Given the description of an element on the screen output the (x, y) to click on. 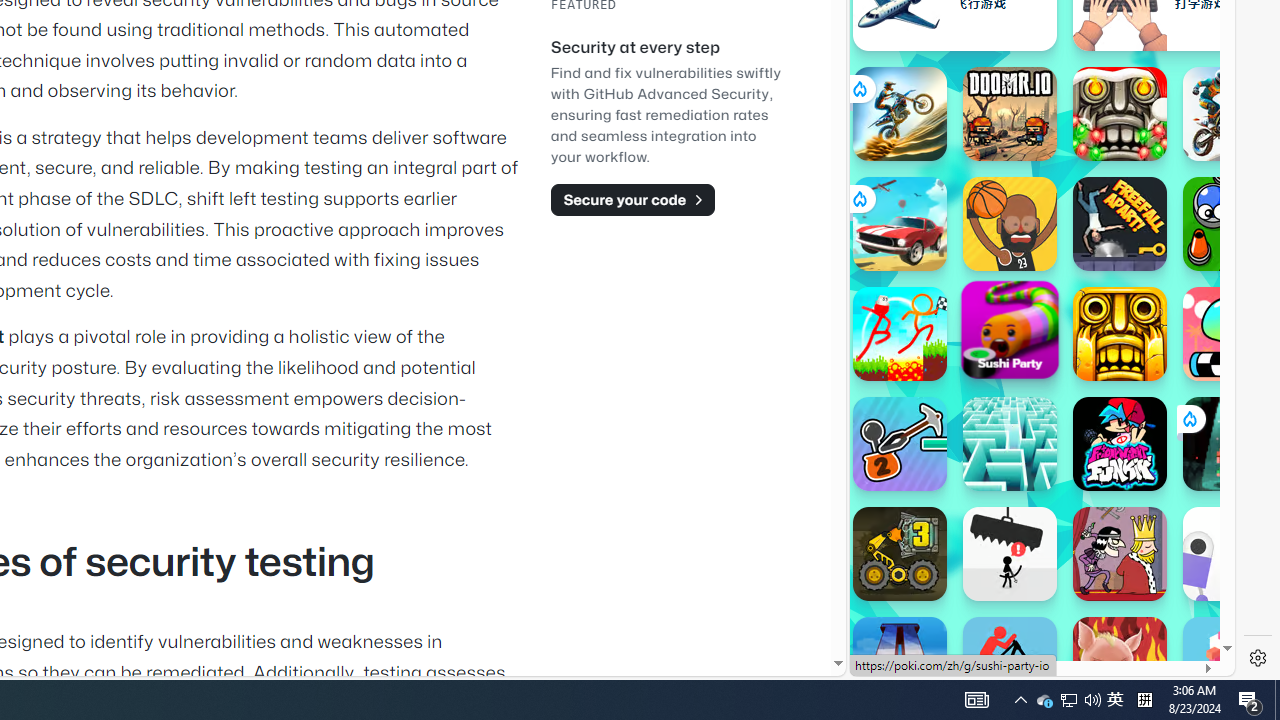
Combat Reloaded (1092, 300)
Hills of Steel (943, 300)
Goal Training Goal Training (1229, 223)
Crossy Road Crossy Road (1229, 664)
Doomr.io Doomr.io (1009, 113)
Murder (1119, 553)
Hills of Steel (925, 290)
Search (1169, 61)
Temple Run 2: Frozen Festival Temple Run 2: Frozen Festival (1119, 113)
Blumgi Slime Blumgi Slime (1229, 333)
Goal Training (1229, 223)
Odd Bot Out (1229, 553)
Secure your code (632, 199)
Maze: Path of Light (1009, 443)
Settings (1258, 658)
